Given the description of an element on the screen output the (x, y) to click on. 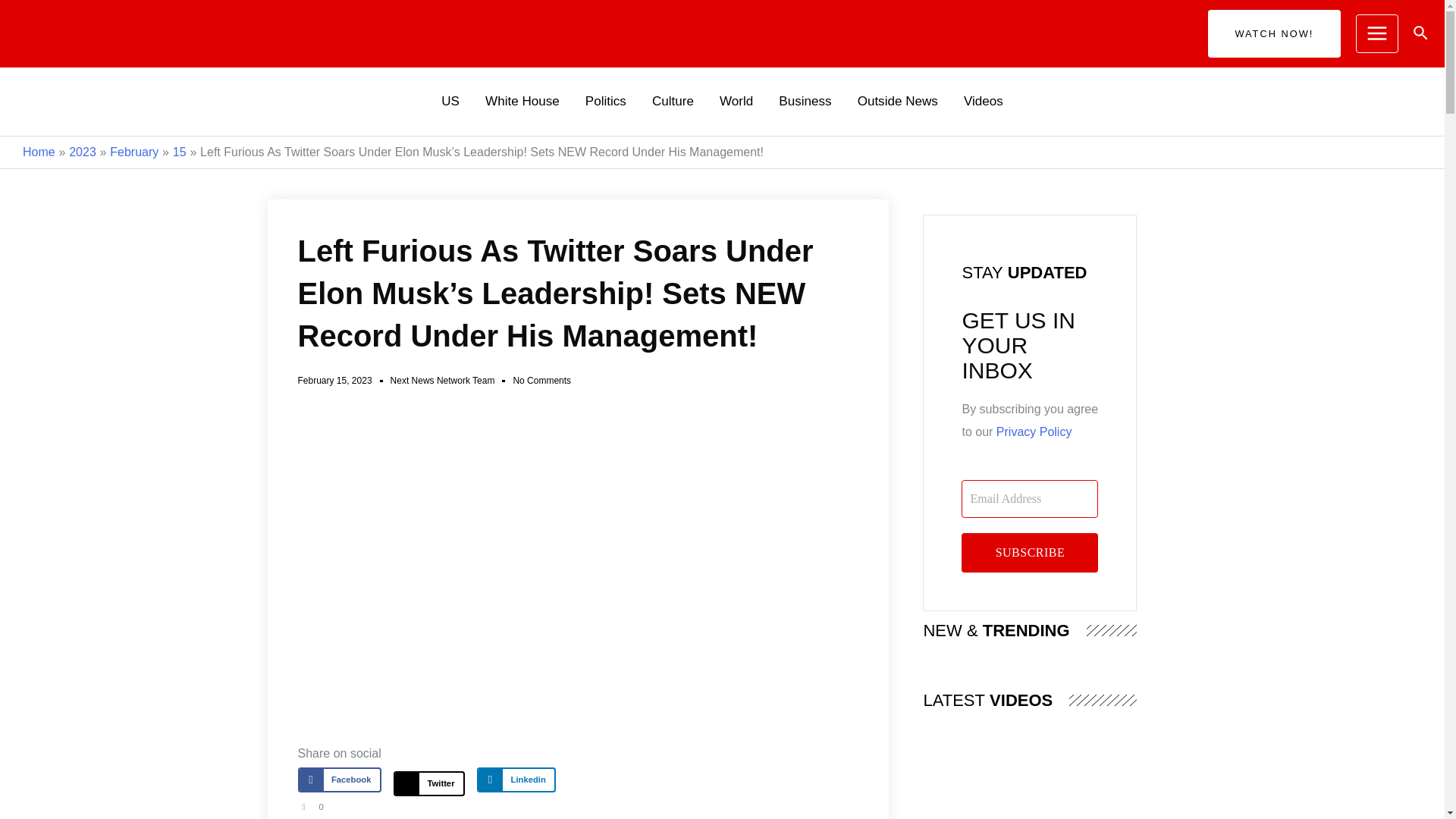
World (735, 101)
White House (521, 101)
Politics (605, 101)
Outside News (897, 101)
Culture (672, 101)
Videos (983, 101)
WATCH NOW! (1274, 33)
Business (804, 101)
